Given the description of an element on the screen output the (x, y) to click on. 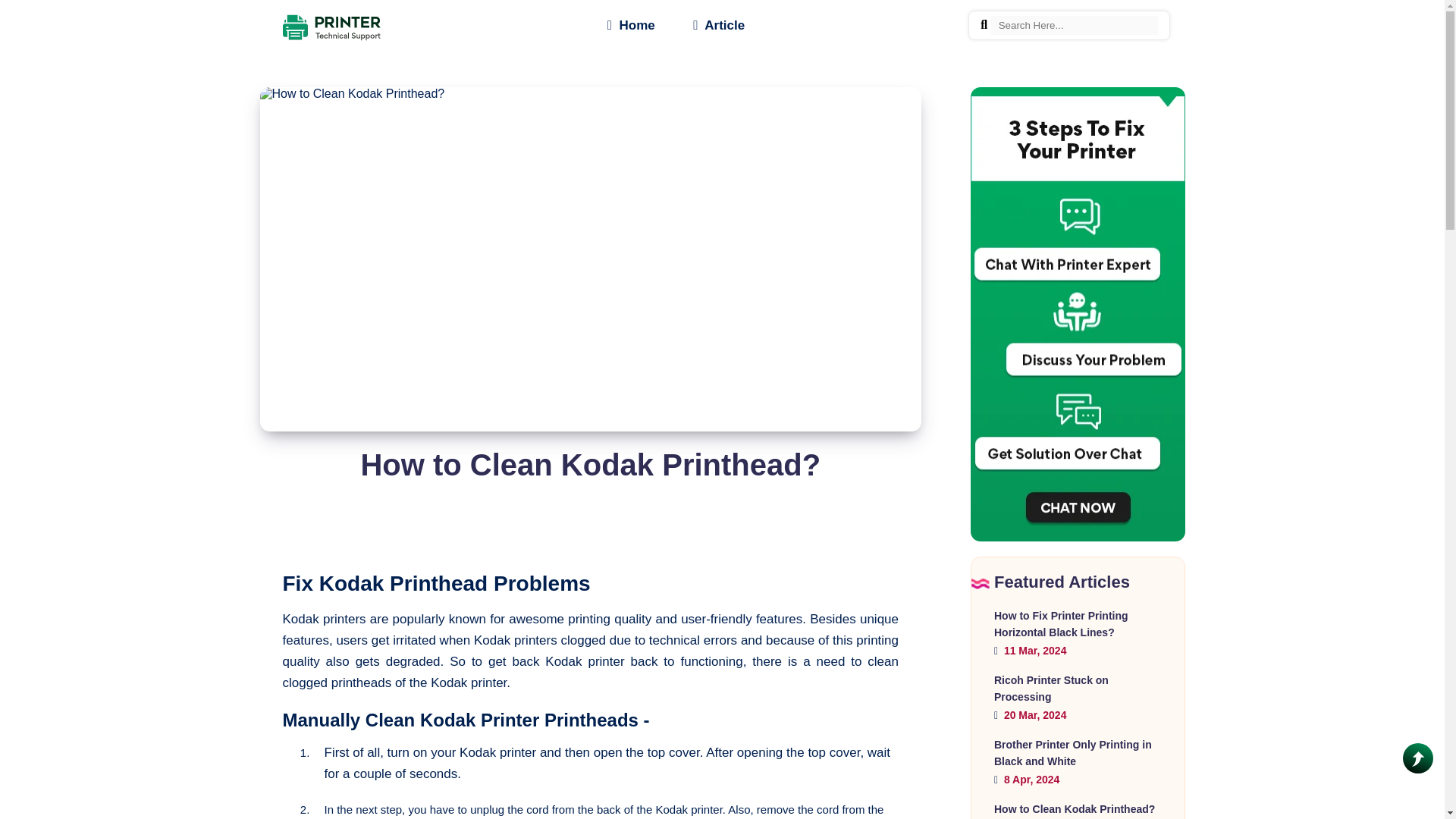
  Home (631, 23)
Brother Printer Only Printing in Black and White (1072, 752)
  Article (718, 23)
How to Fix Printer Printing Horizontal Black Lines? (1061, 623)
How to Clean Kodak Printhead? (1074, 808)
Ricoh Printer Stuck on Processing (1051, 688)
